Given the description of an element on the screen output the (x, y) to click on. 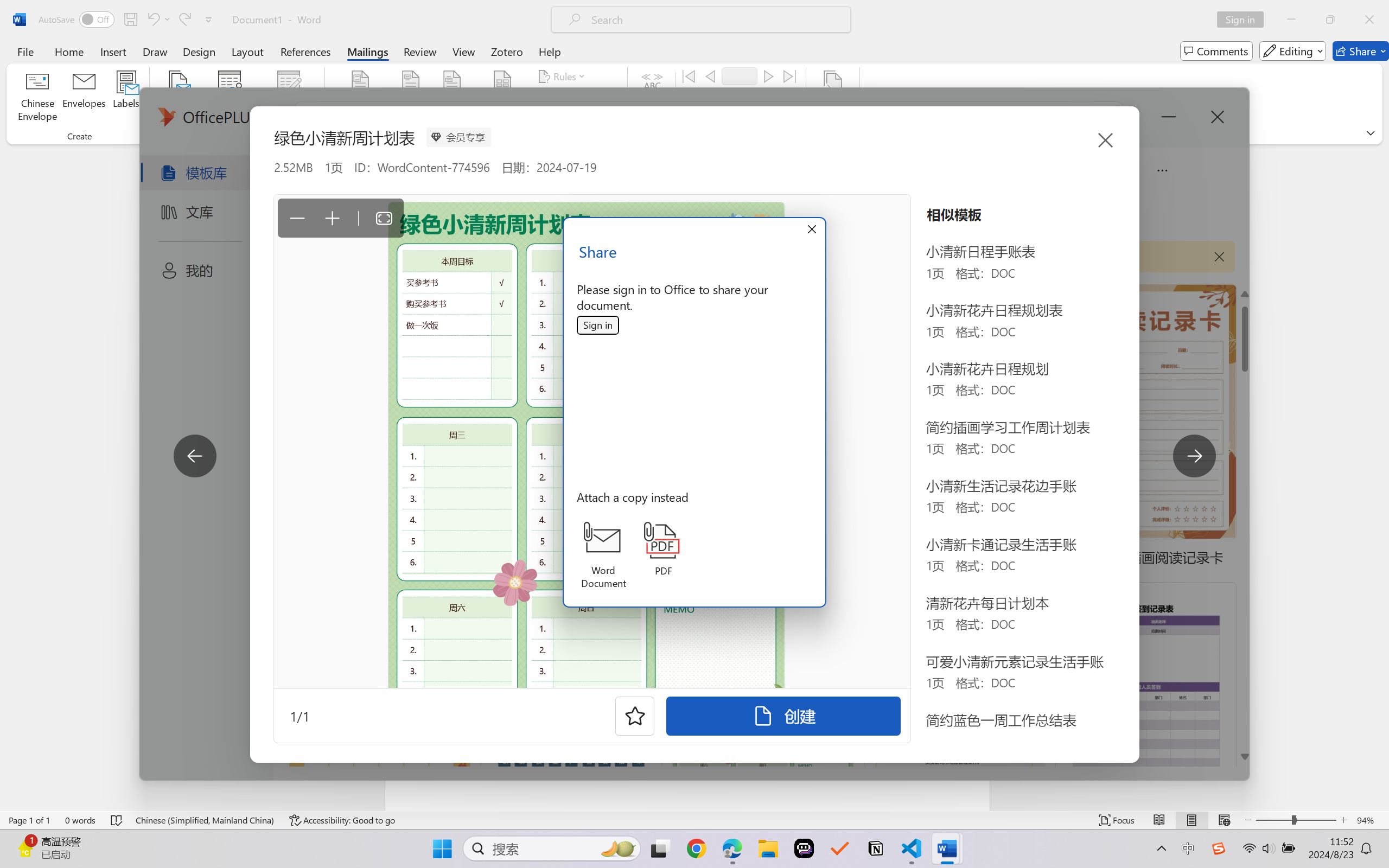
Update Labels (576, 118)
First (688, 75)
Rules (563, 75)
Insert Merge Field (502, 97)
Previous (709, 75)
